Given the description of an element on the screen output the (x, y) to click on. 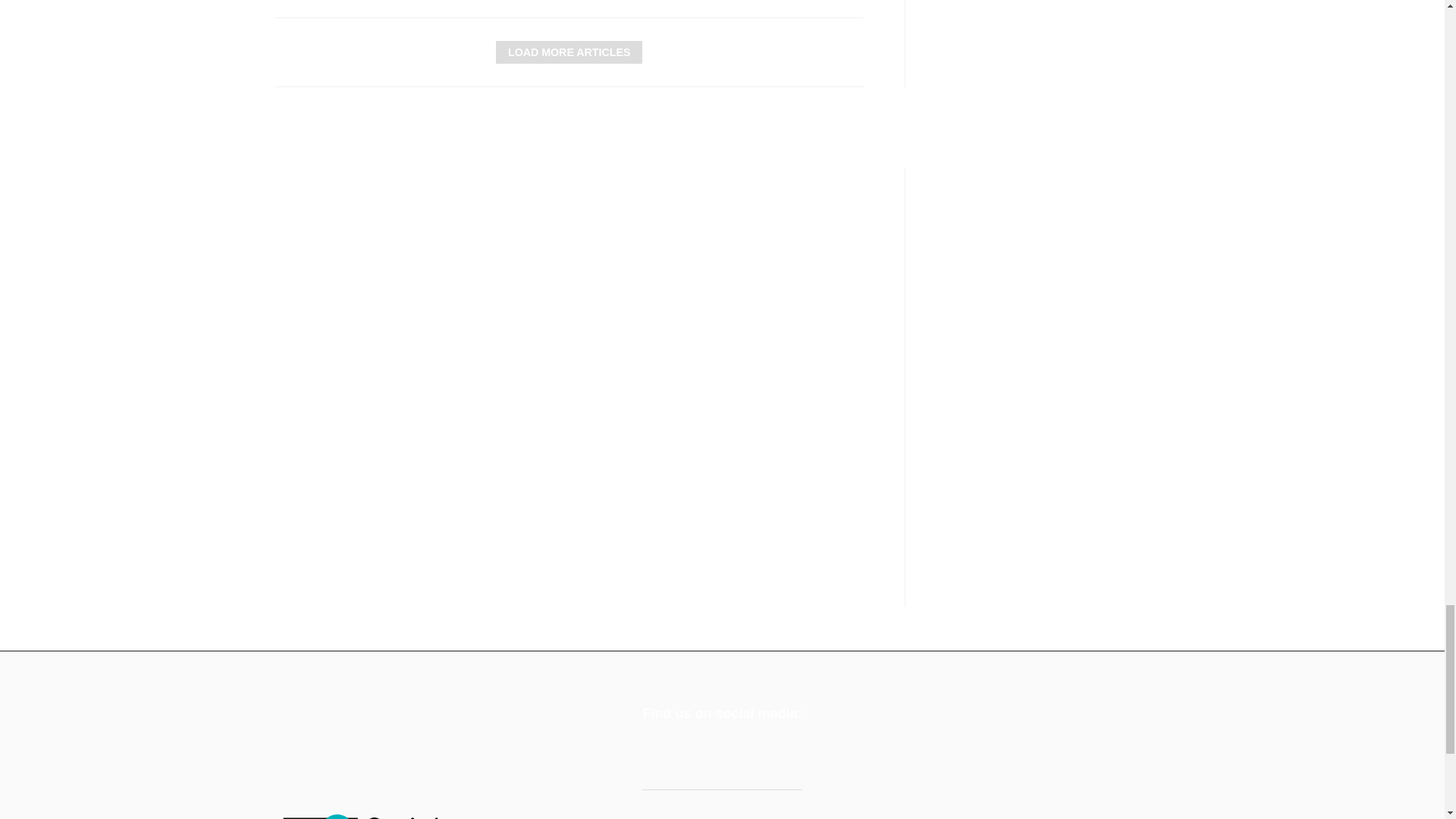
Connect with us on Linked In (697, 752)
Connect with us on Twitter (658, 752)
Email us (737, 752)
